Given the description of an element on the screen output the (x, y) to click on. 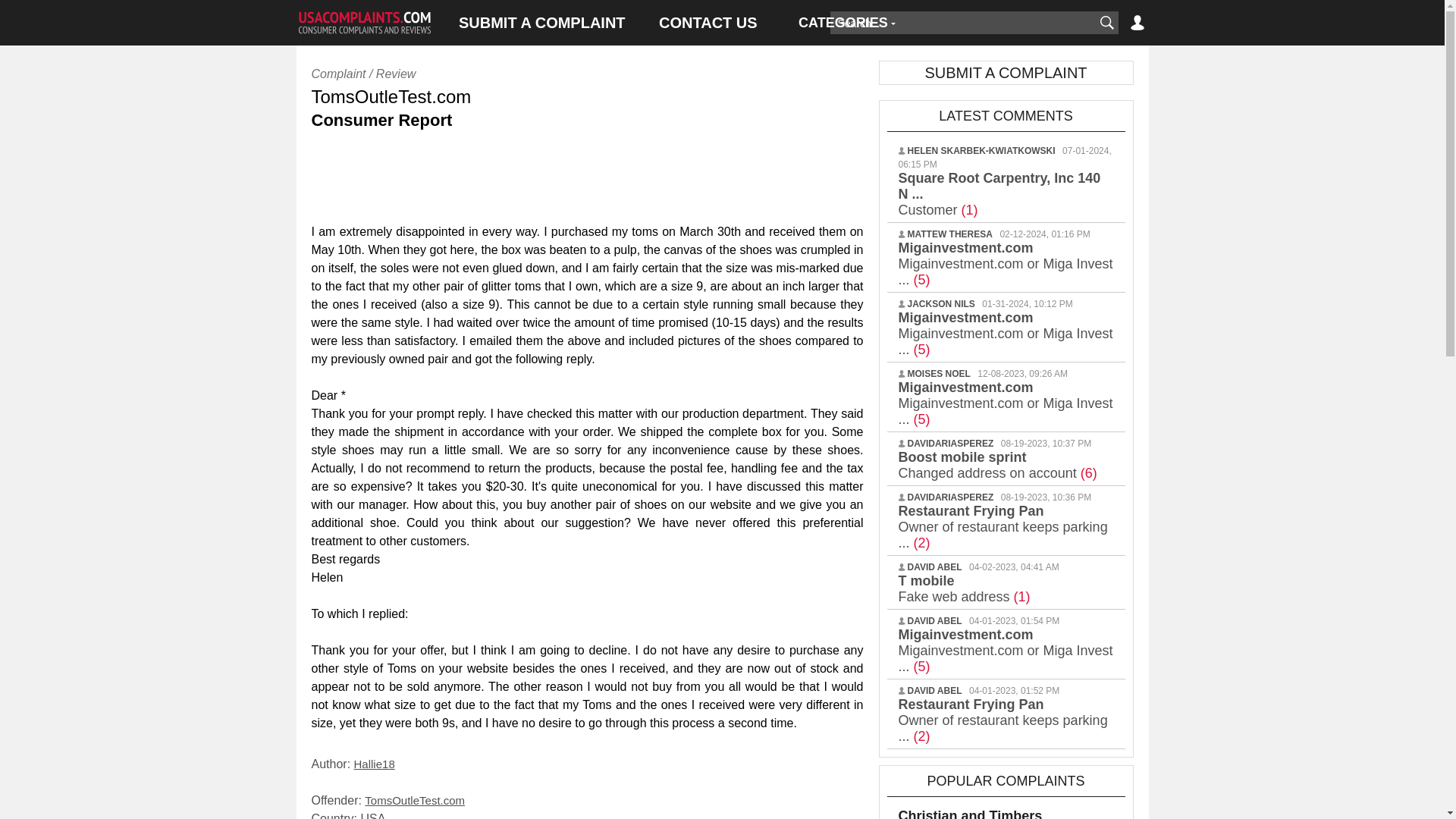
T mobile - Fake web address (963, 588)
SUBMIT A COMPLAINT (542, 22)
Find (1106, 22)
CONTACT US (708, 22)
Boost mobile sprint - Changed address on account (997, 464)
Search... (961, 22)
